Given the description of an element on the screen output the (x, y) to click on. 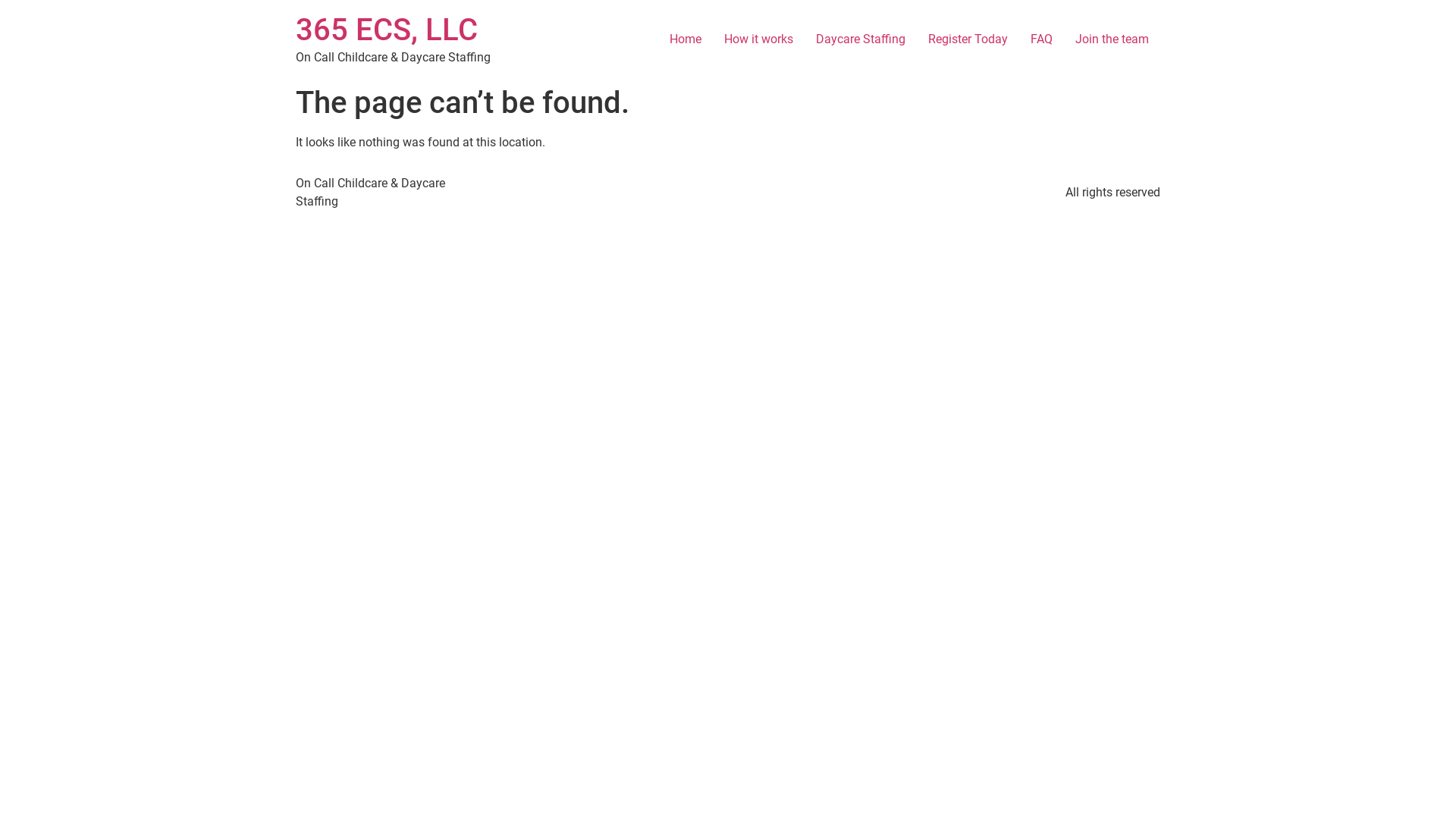
365 ECS, LLC Element type: text (386, 29)
How it works Element type: text (758, 39)
Home Element type: text (685, 39)
FAQ Element type: text (1041, 39)
Daycare Staffing Element type: text (860, 39)
Register Today Element type: text (967, 39)
Join the team Element type: text (1111, 39)
